Given the description of an element on the screen output the (x, y) to click on. 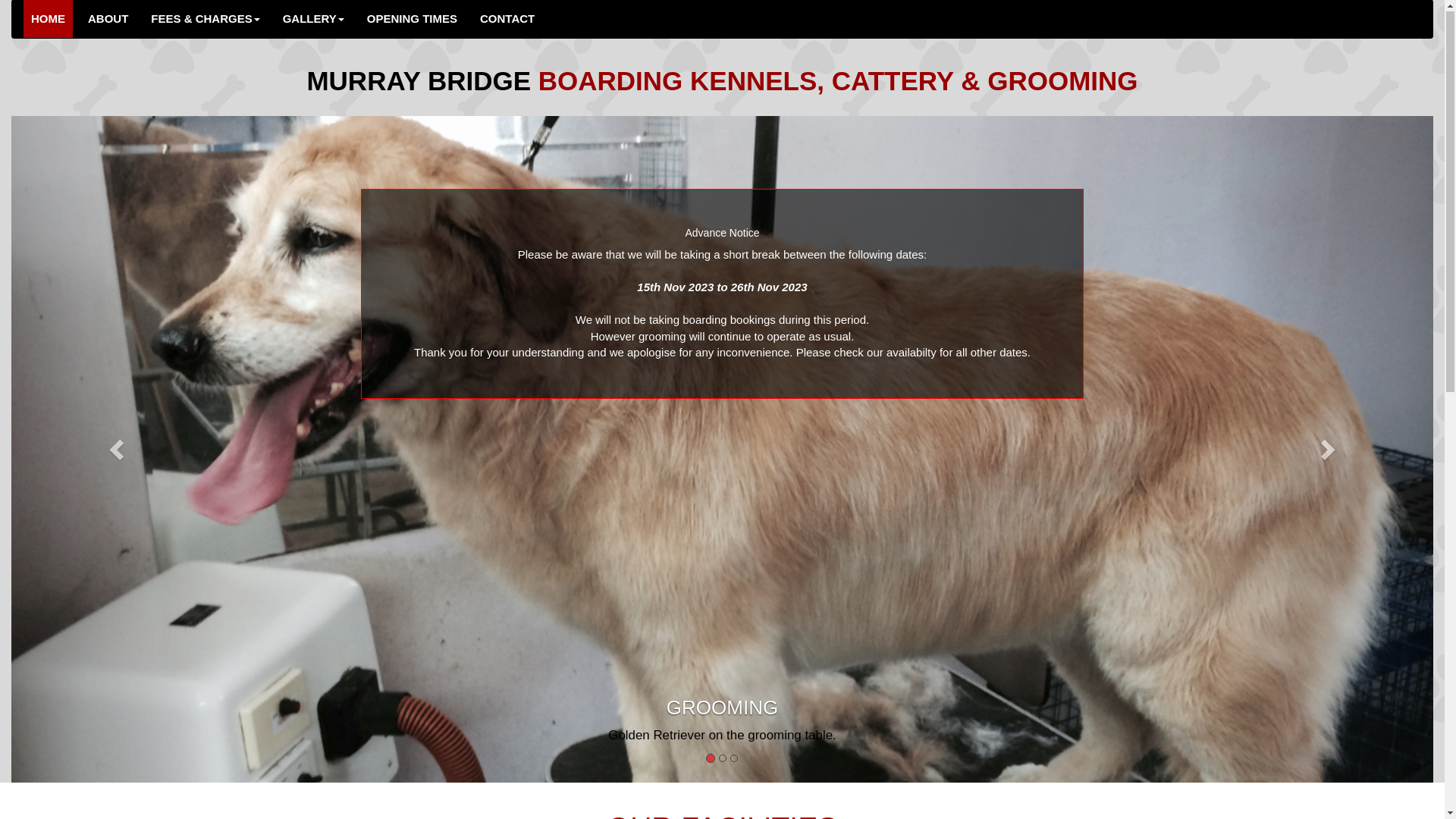
GALLERY Element type: text (313, 19)
MURRAY BRIDGE BOARDING KENNELS, CATTERY & GROOMING Element type: text (721, 81)
Previous Element type: text (117, 449)
CONTACT Element type: text (507, 19)
FEES & CHARGES Element type: text (204, 19)
OPENING TIMES Element type: text (411, 19)
HOME
(current) Element type: text (47, 19)
Next Element type: text (1326, 449)
ABOUT Element type: text (107, 19)
